Given the description of an element on the screen output the (x, y) to click on. 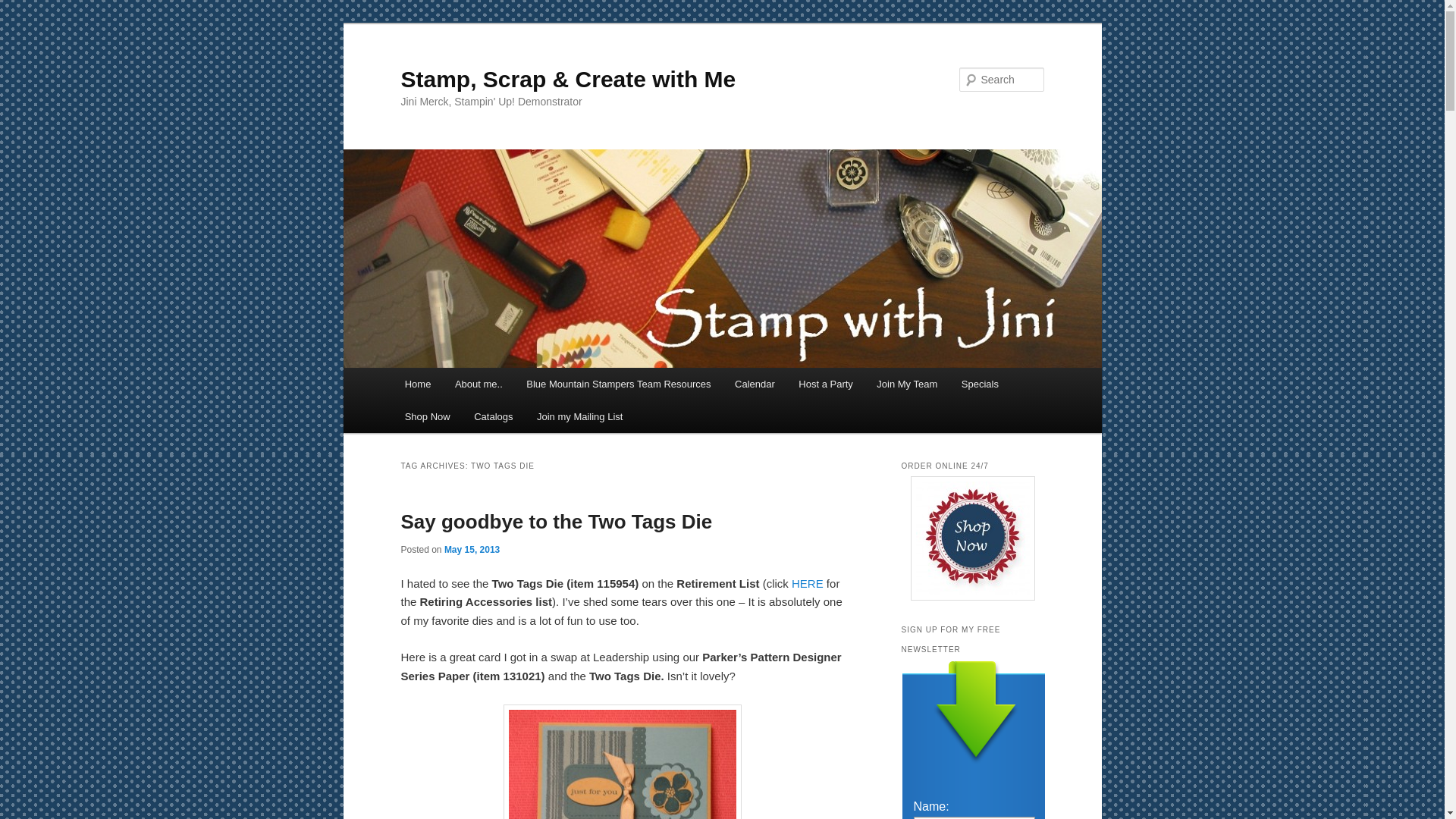
10:32 am (471, 549)
Specials (979, 383)
Join My Team (906, 383)
Join my Mailing List (579, 416)
Search (24, 8)
Home (417, 383)
May 15, 2013 (471, 549)
Host a Party (825, 383)
HERE (808, 583)
Say goodbye to the Two Tags Die (555, 521)
